Given the description of an element on the screen output the (x, y) to click on. 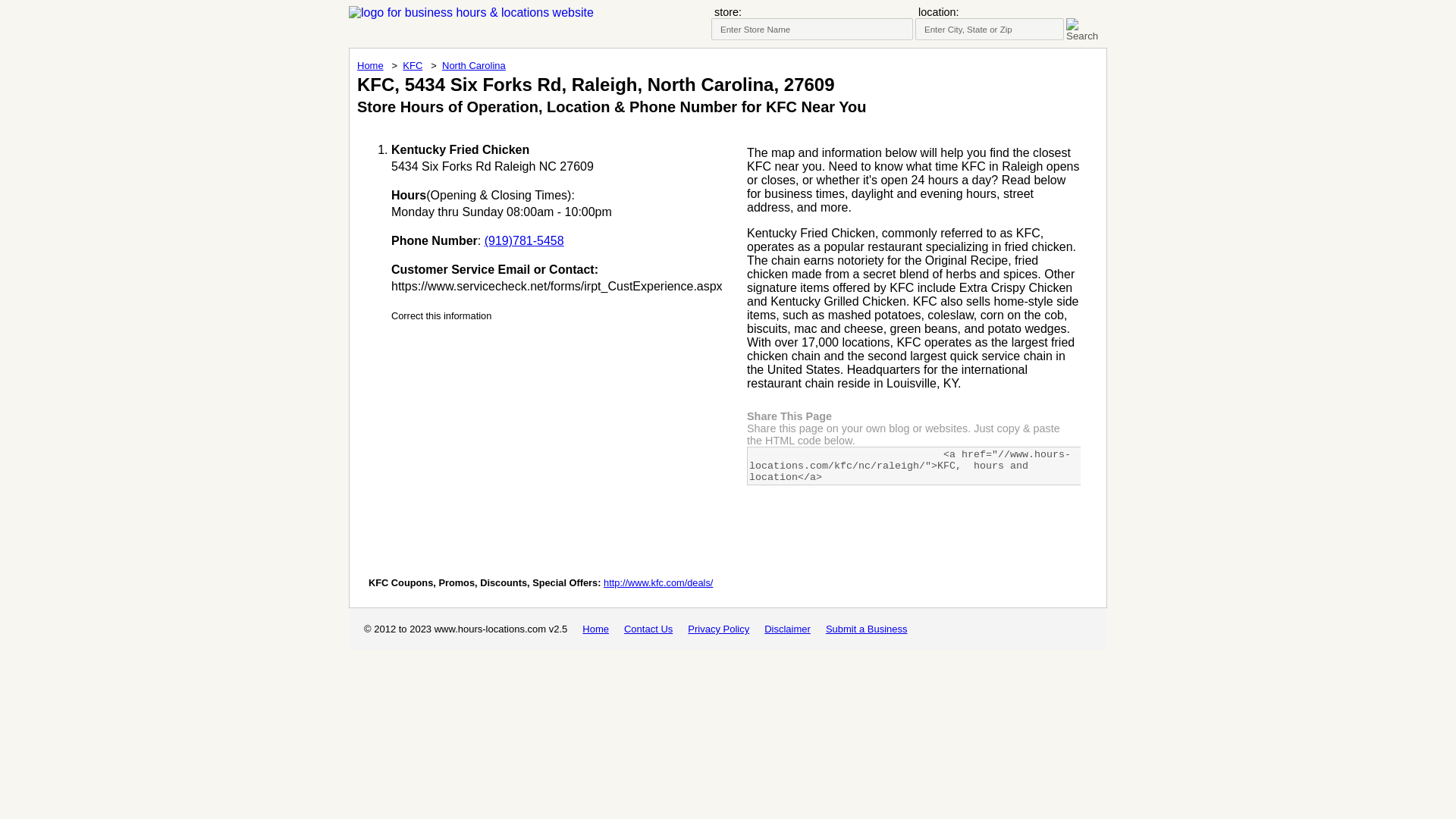
Contact Us (648, 628)
Correct this information (441, 315)
KFC (412, 65)
Home (595, 628)
Enter City, State or Zip (989, 29)
Privacy Policy (718, 628)
Enter Store Name (811, 29)
Disclaimer (787, 628)
Submit a Business (866, 628)
North Carolina (473, 65)
Home (370, 65)
